Given the description of an element on the screen output the (x, y) to click on. 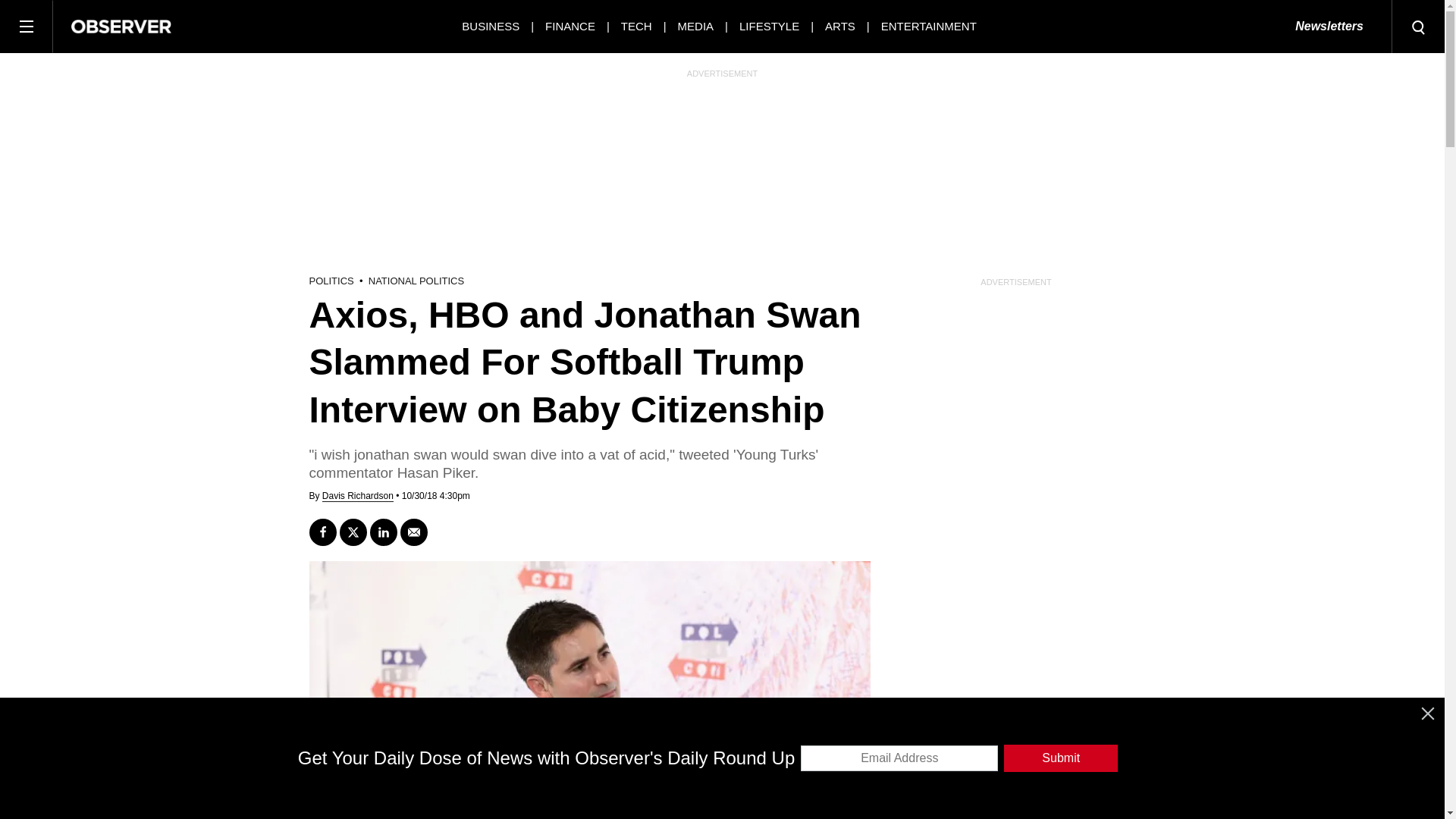
Share on Facebook (322, 532)
Tweet (352, 532)
Observer (121, 26)
TECH (636, 25)
ARTS (840, 25)
LIFESTYLE (769, 25)
Send email (414, 532)
ENTERTAINMENT (928, 25)
BUSINESS (490, 25)
Share on LinkedIn (383, 532)
FINANCE (569, 25)
Newsletters (1329, 26)
MEDIA (696, 25)
View All Posts by Davis Richardson (357, 496)
